Given the description of an element on the screen output the (x, y) to click on. 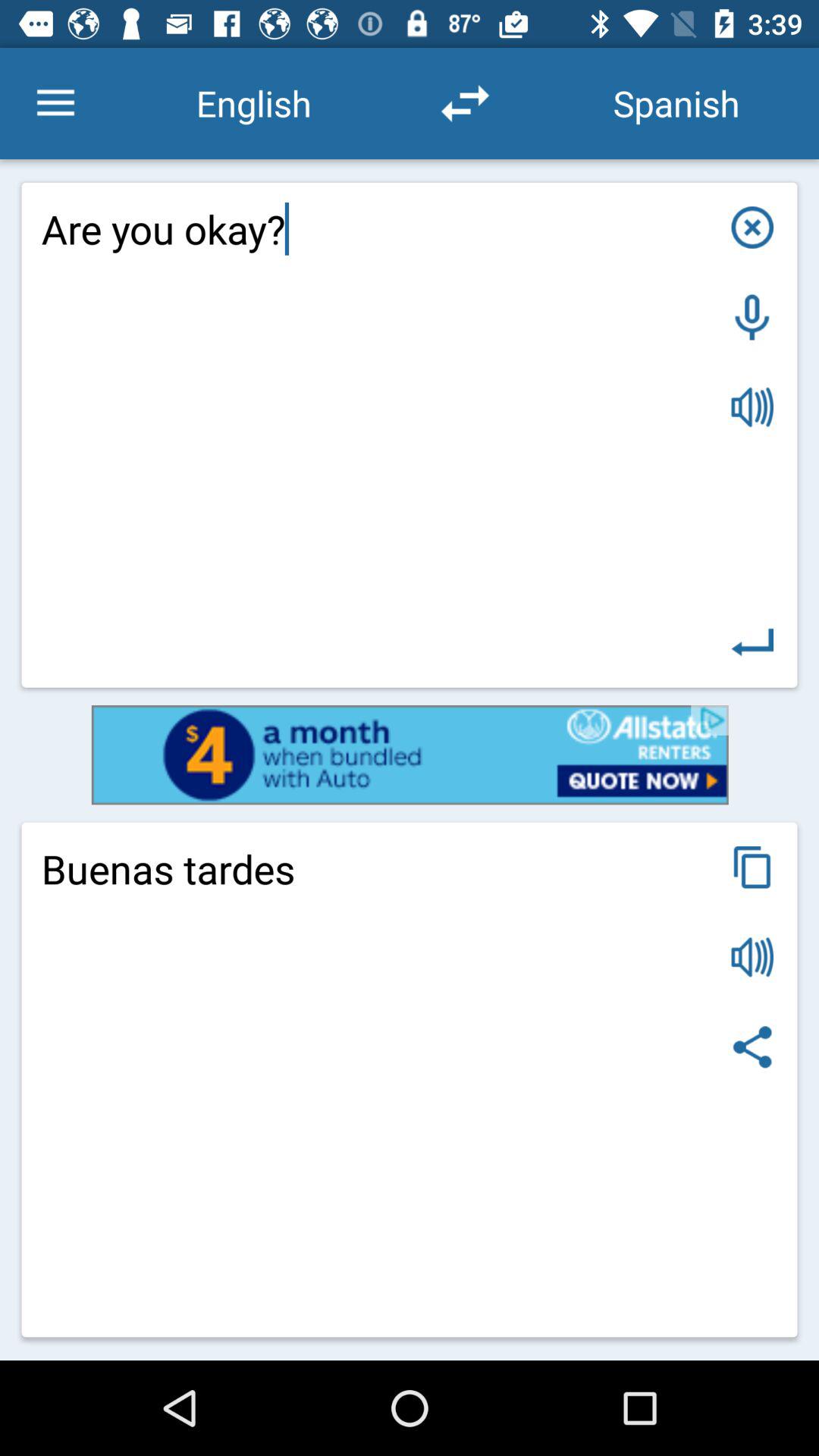
share icon (752, 1047)
